Given the description of an element on the screen output the (x, y) to click on. 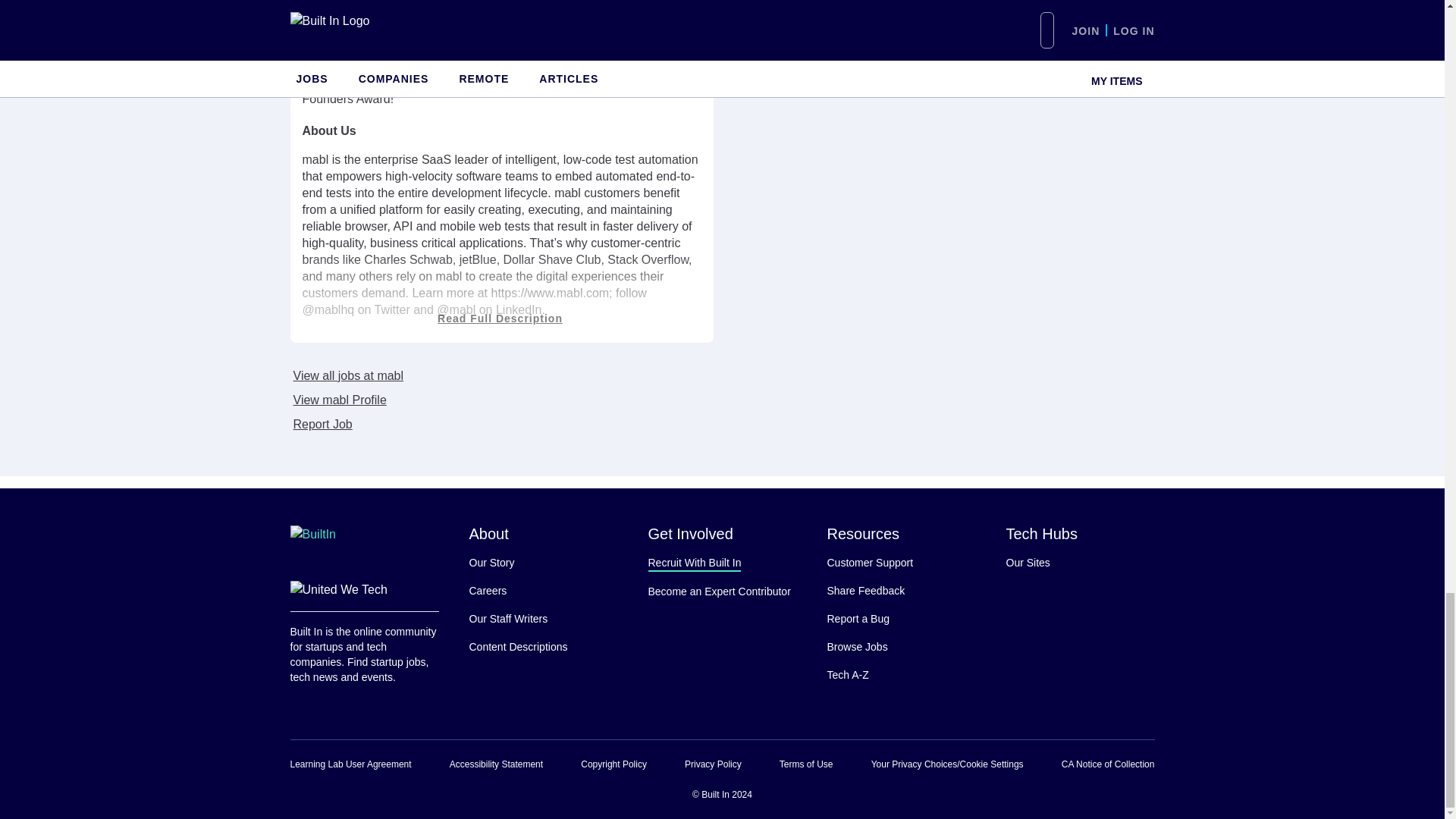
Report Job (320, 424)
View all jobs at mabl (346, 375)
Read Full Description (501, 297)
View mabl Profile (337, 399)
